Given the description of an element on the screen output the (x, y) to click on. 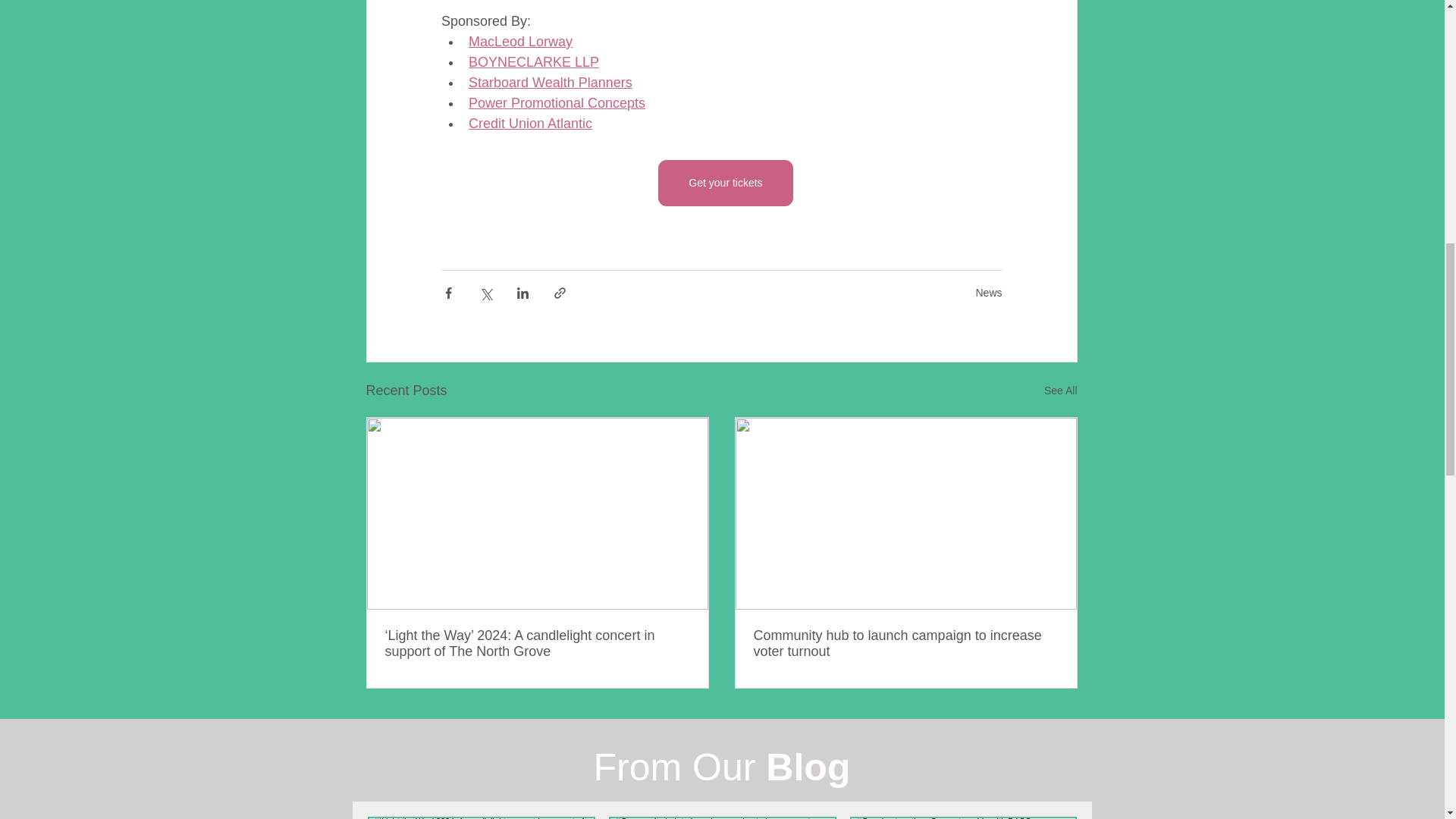
Get your tickets (725, 182)
Starboard Wealth Planners (549, 82)
BOYNECLARKE LLP (533, 61)
MacLeod Lorway (520, 41)
Power Promotional Concepts (556, 102)
